Given the description of an element on the screen output the (x, y) to click on. 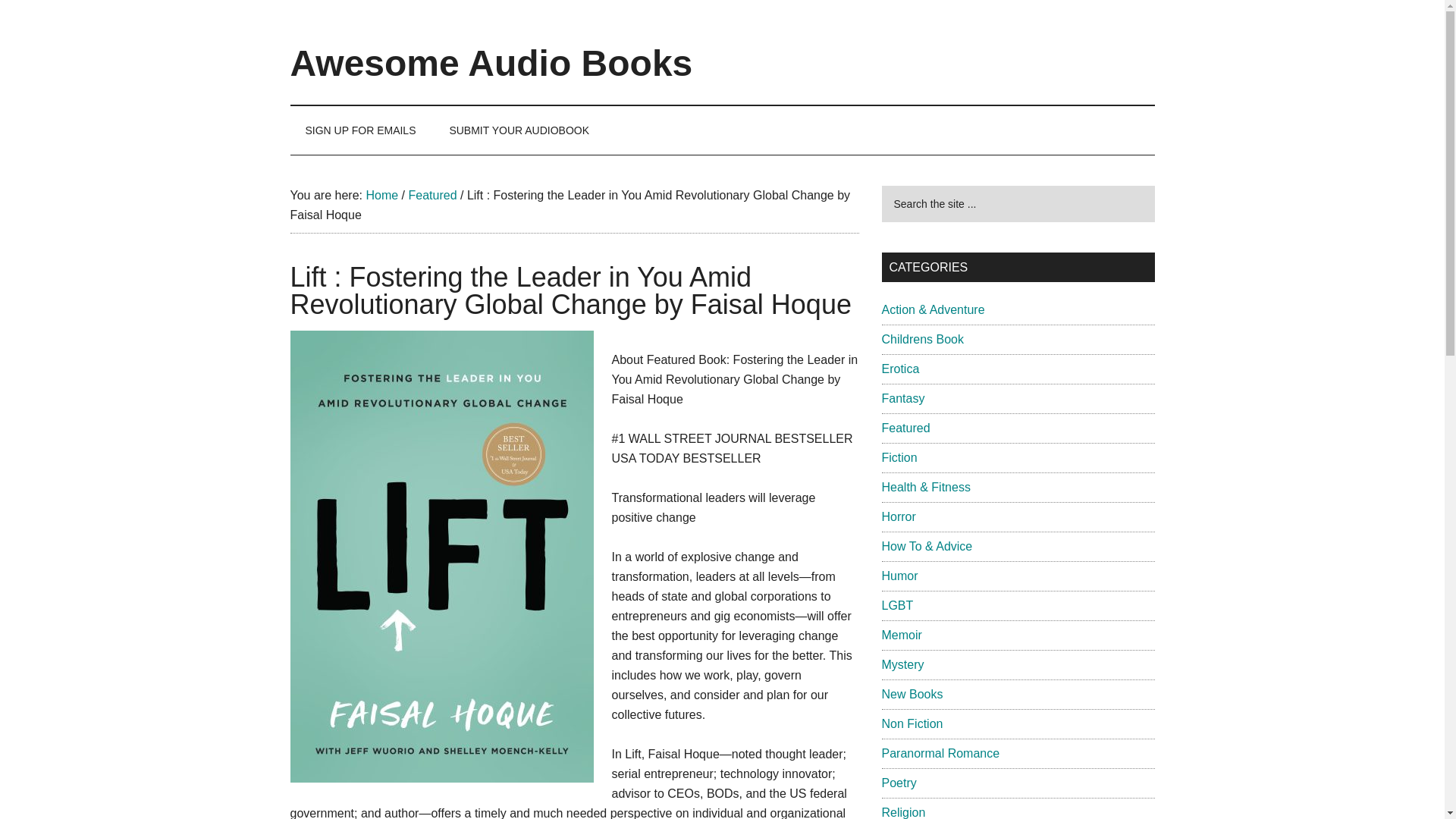
Religion (902, 812)
Non Fiction (911, 723)
Paranormal Romance (939, 753)
Horror (897, 516)
SUBMIT YOUR AUDIOBOOK (518, 130)
Awesome Audio Books (491, 63)
LGBT (896, 604)
Fantasy (902, 398)
Fiction (898, 457)
